Given the description of an element on the screen output the (x, y) to click on. 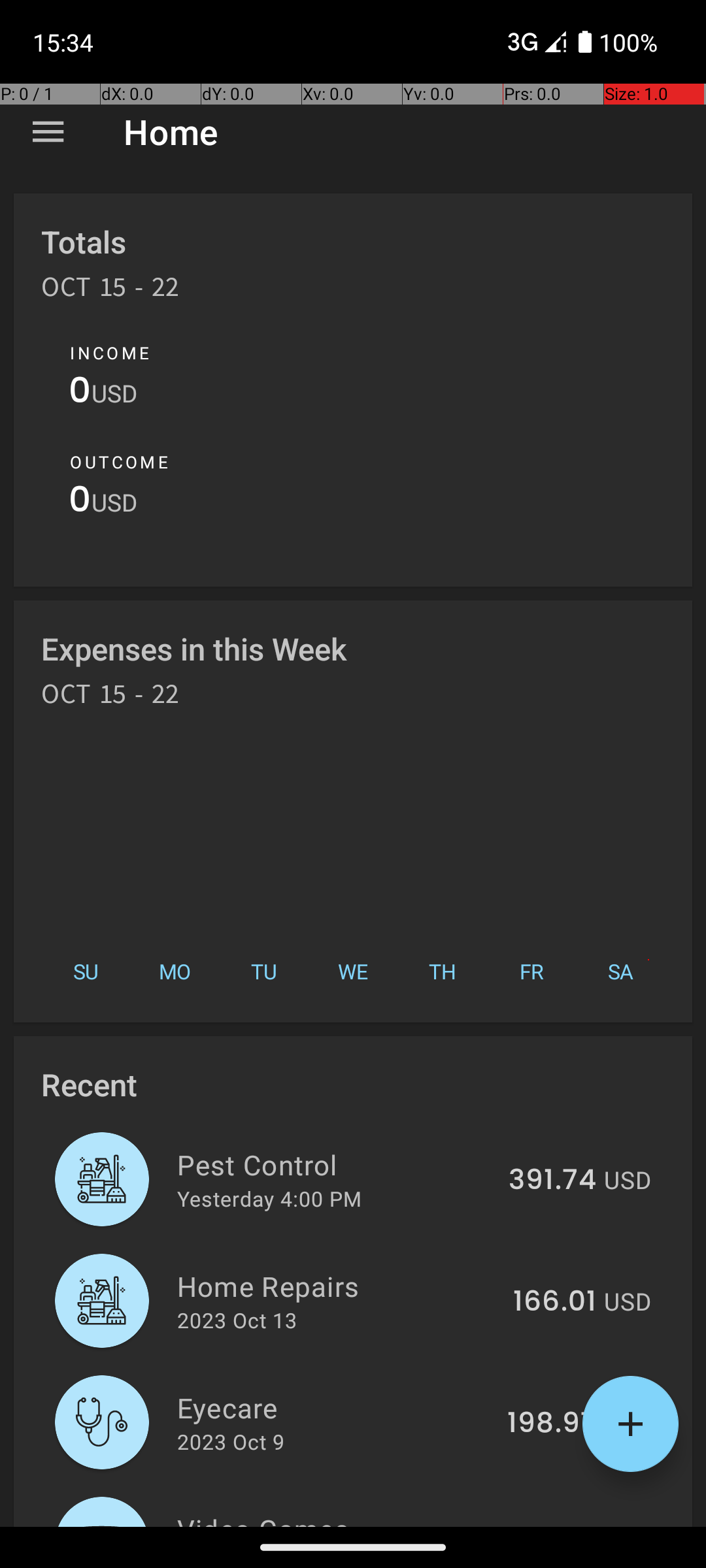
Pest Control Element type: android.widget.TextView (335, 1164)
Yesterday 4:00 PM Element type: android.widget.TextView (269, 1198)
391.74 Element type: android.widget.TextView (551, 1180)
Home Repairs Element type: android.widget.TextView (337, 1285)
166.01 Element type: android.widget.TextView (554, 1301)
Eyecare Element type: android.widget.TextView (334, 1407)
2023 Oct 9 Element type: android.widget.TextView (230, 1441)
198.97 Element type: android.widget.TextView (551, 1423)
Video Games Element type: android.widget.TextView (331, 1518)
206.76 Element type: android.widget.TextView (548, 1524)
